Given the description of an element on the screen output the (x, y) to click on. 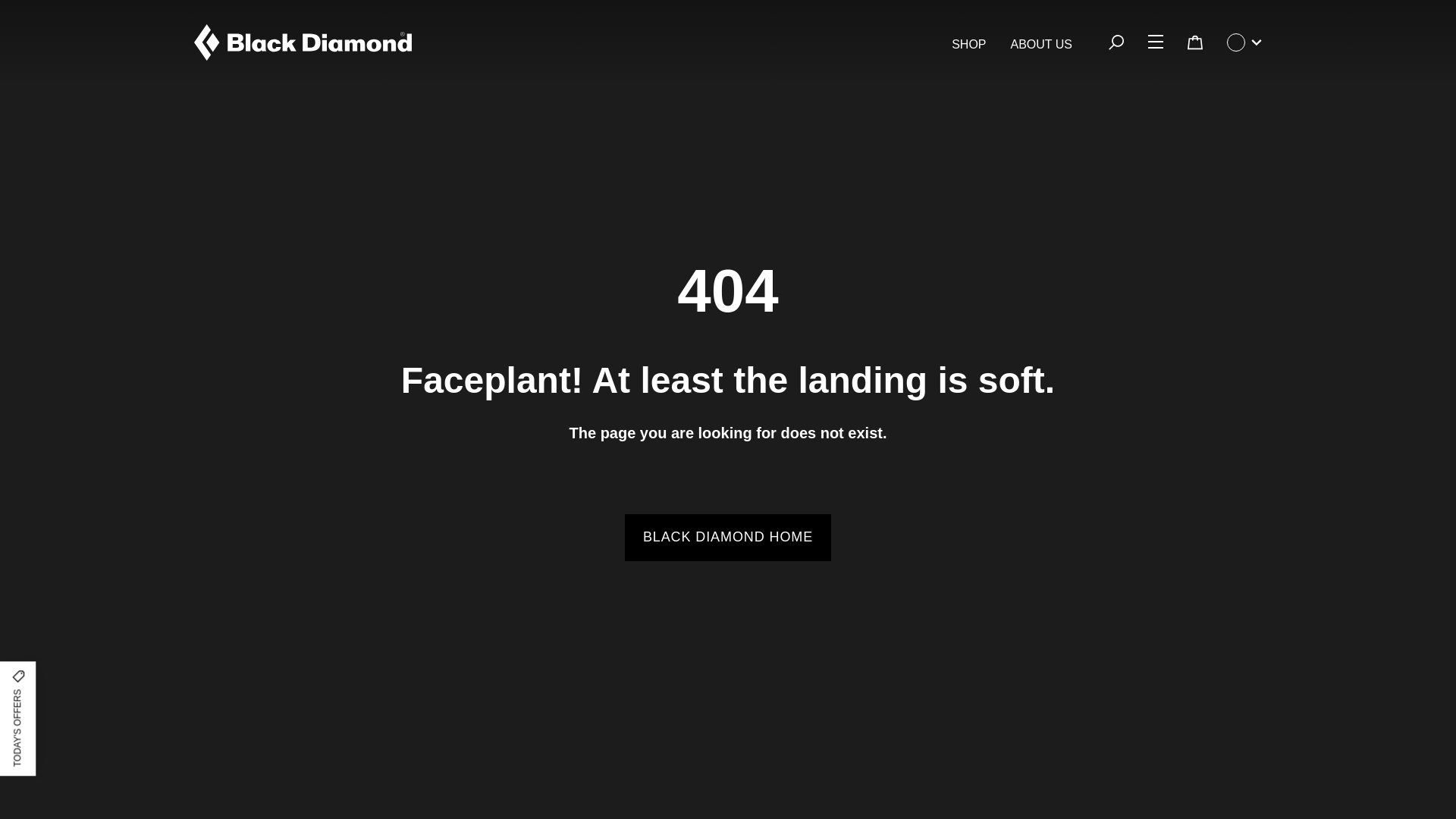
SHOP (968, 44)
CART (1194, 42)
Cart (1195, 42)
ABOUT US (1040, 44)
Black Diamond (302, 42)
Change Locale (1244, 42)
Search (1116, 42)
Black Diamond (302, 42)
